Given the description of an element on the screen output the (x, y) to click on. 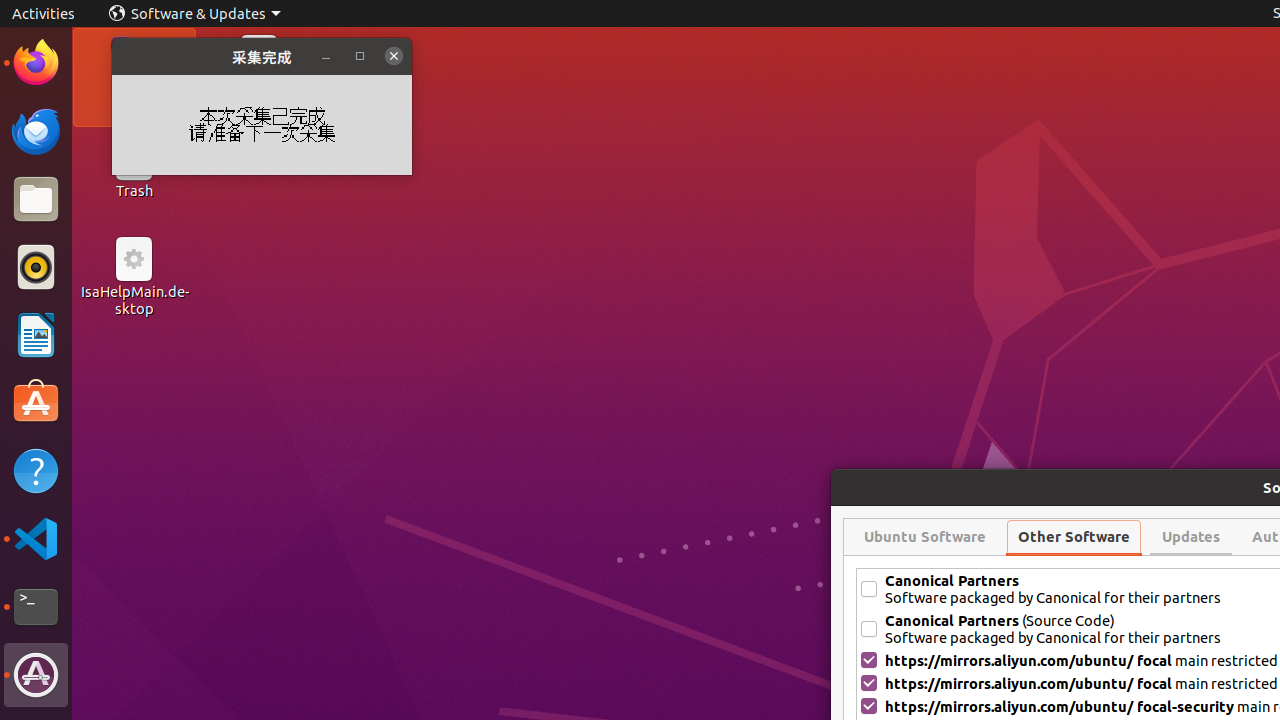
Software & Updates Element type: push-button (36, 675)
luyi1 Element type: label (133, 89)
Updates Element type: page-tab (1191, 537)
